Given the description of an element on the screen output the (x, y) to click on. 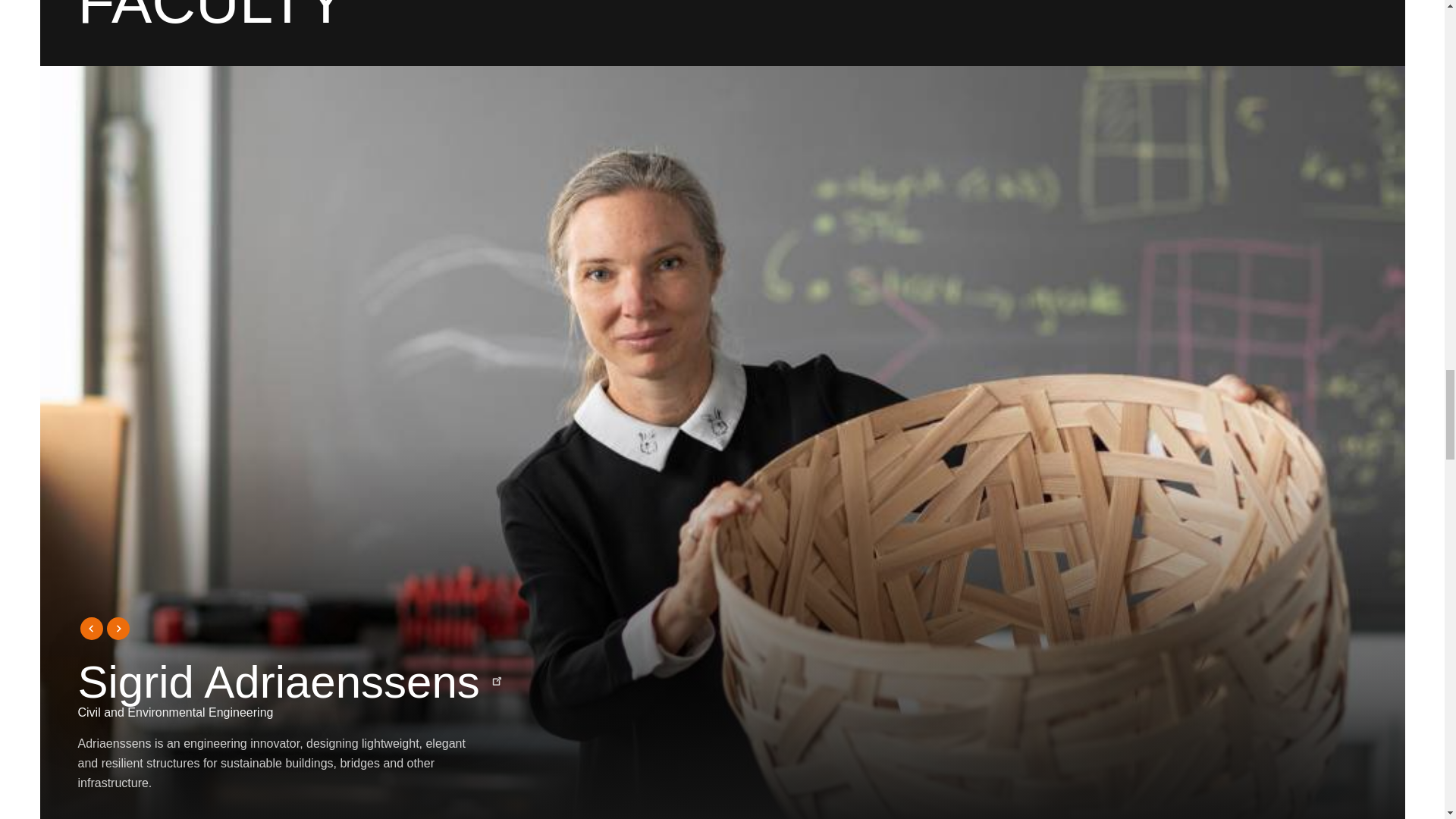
Next (117, 628)
Sigrid Adriaenssens (290, 681)
Previous (90, 628)
